Given the description of an element on the screen output the (x, y) to click on. 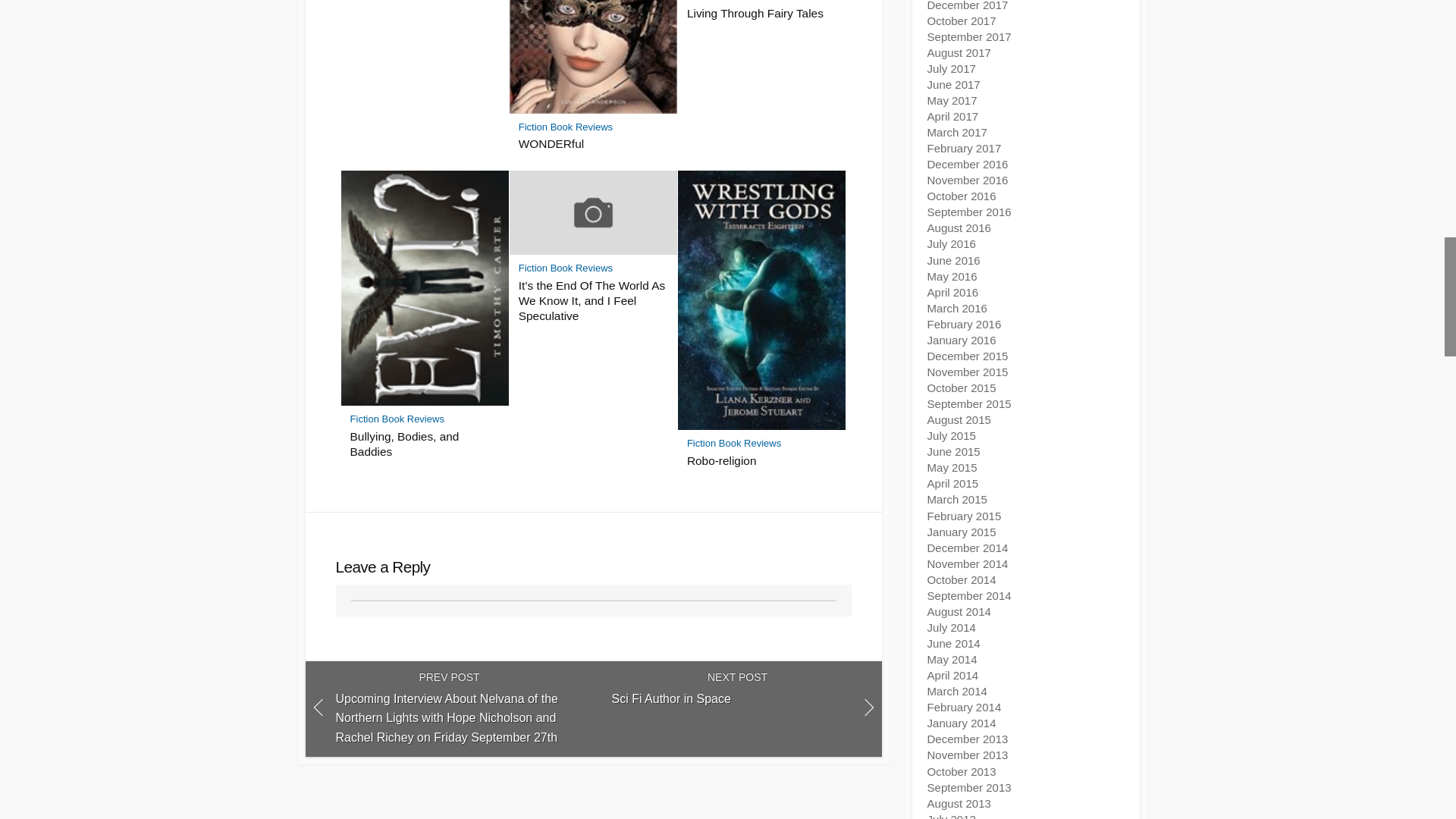
Bullying, Bodies, and Baddies (425, 444)
Fiction Book Reviews (565, 126)
Living Through Fairy Tales (762, 13)
Fiction Book Reviews (733, 1)
Fiction Book Reviews (397, 419)
WONDERful (593, 143)
